Given the description of an element on the screen output the (x, y) to click on. 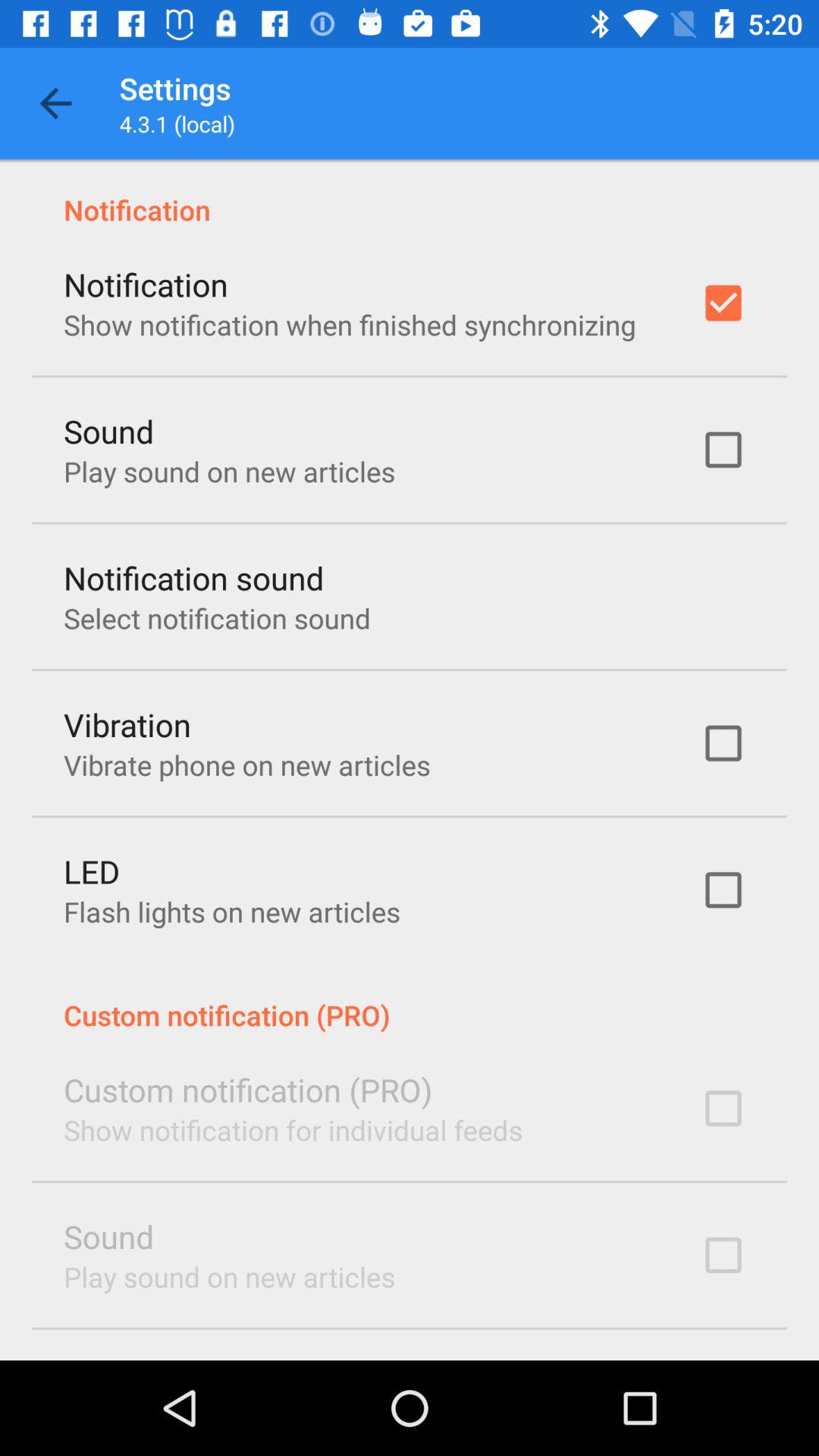
flip until the led item (91, 870)
